Given the description of an element on the screen output the (x, y) to click on. 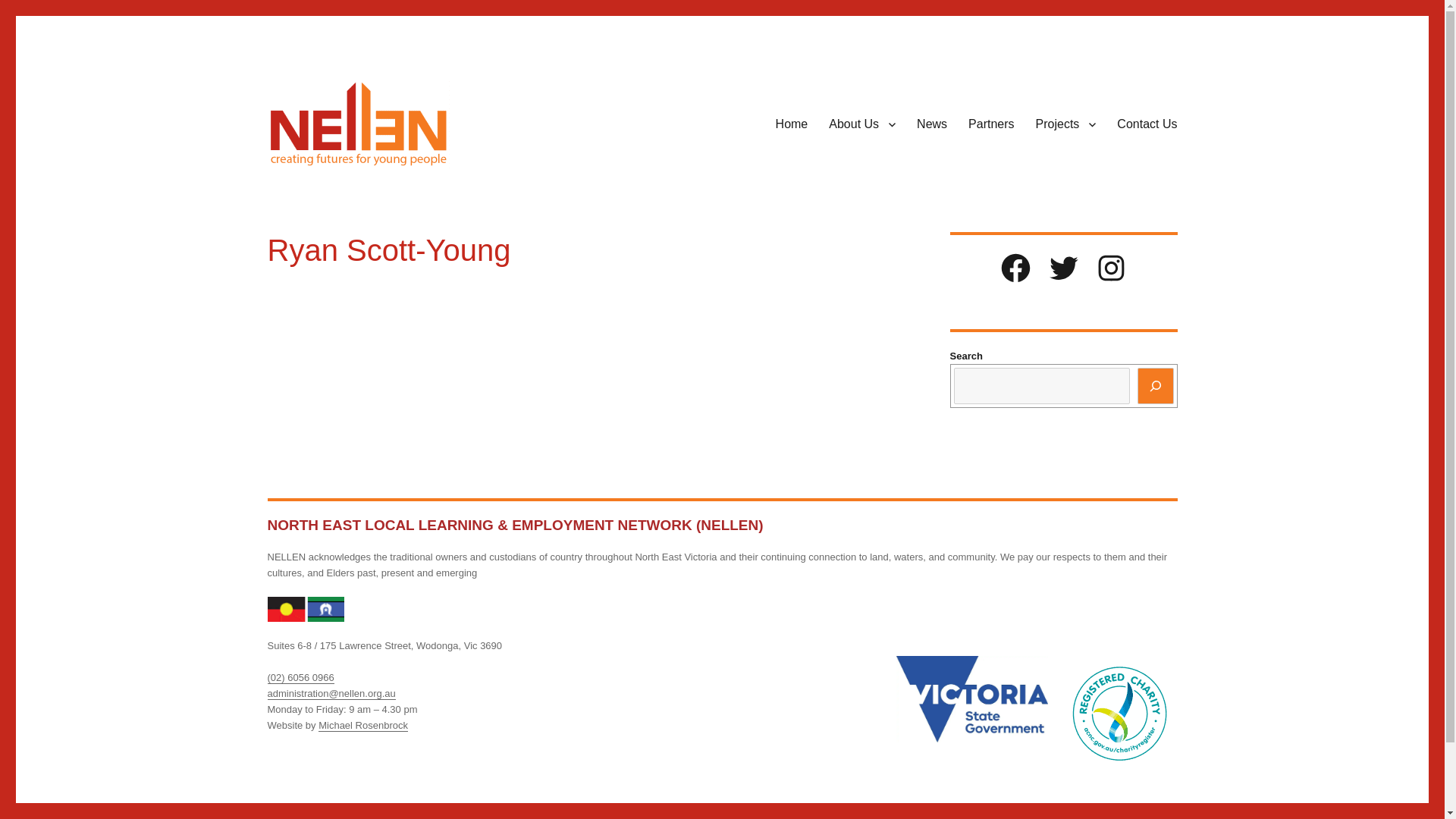
Home Element type: text (792, 123)
(02) 6056 0966 Element type: text (299, 677)
administration@nellen.org.au Element type: text (330, 693)
About Us Element type: text (862, 123)
Twitter Element type: text (1063, 268)
Instagram Element type: text (1111, 268)
Partners Element type: text (990, 123)
Facebook Element type: text (1015, 268)
News Element type: text (931, 123)
Projects Element type: text (1066, 123)
Michael Rosenbrock Element type: text (362, 725)
NELLEN Element type: text (308, 191)
Contact Us Element type: text (1146, 123)
